Given the description of an element on the screen output the (x, y) to click on. 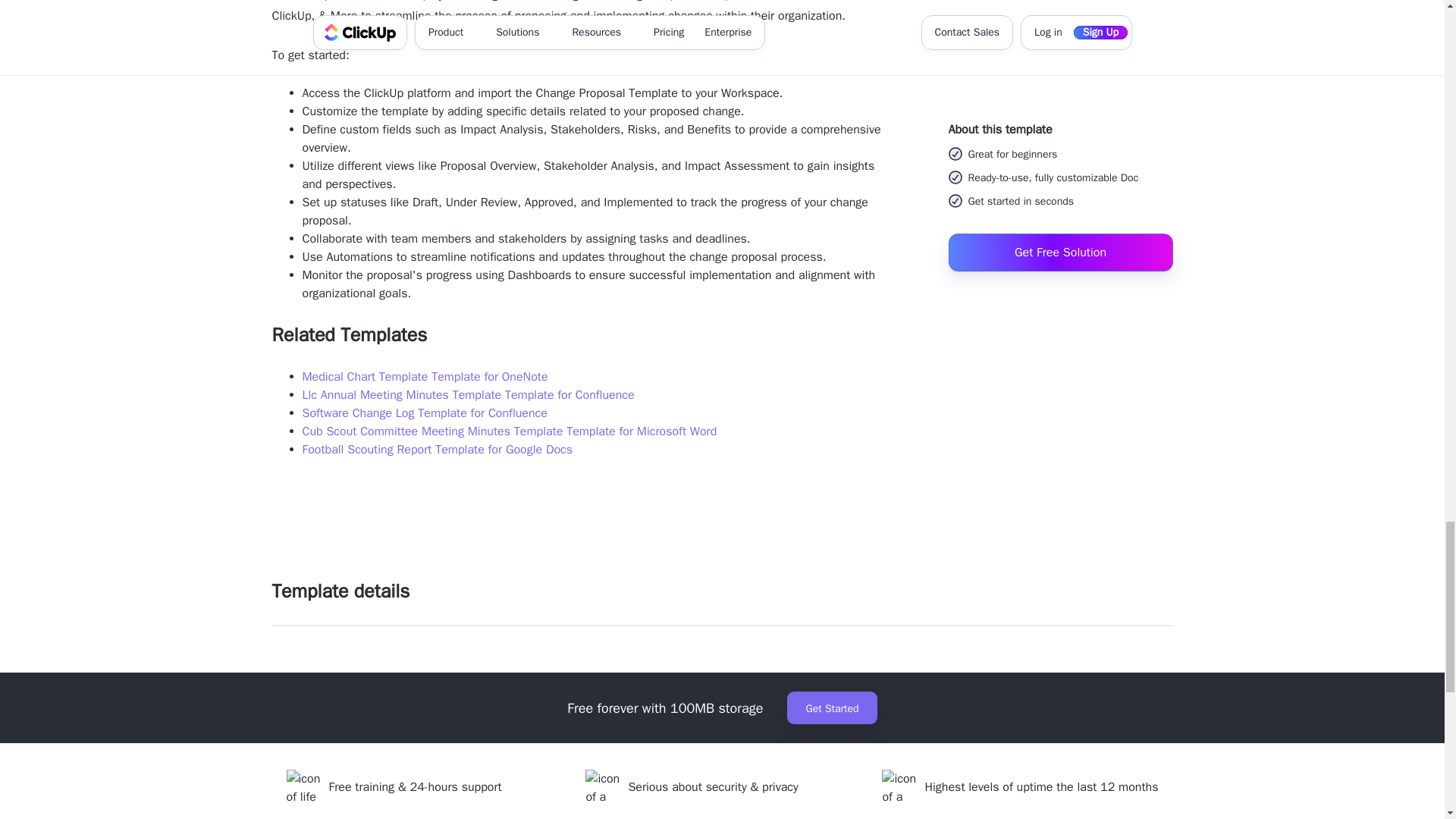
Llc Annual Meeting Minutes Template Template for Confluence (467, 394)
Free training (361, 786)
24-hours support (456, 786)
Get Started (831, 707)
Software Change Log Template for Confluence (424, 412)
Football Scouting Report Template for Google Docs (436, 449)
Medical Chart Template Template for OneNote (424, 376)
